Given the description of an element on the screen output the (x, y) to click on. 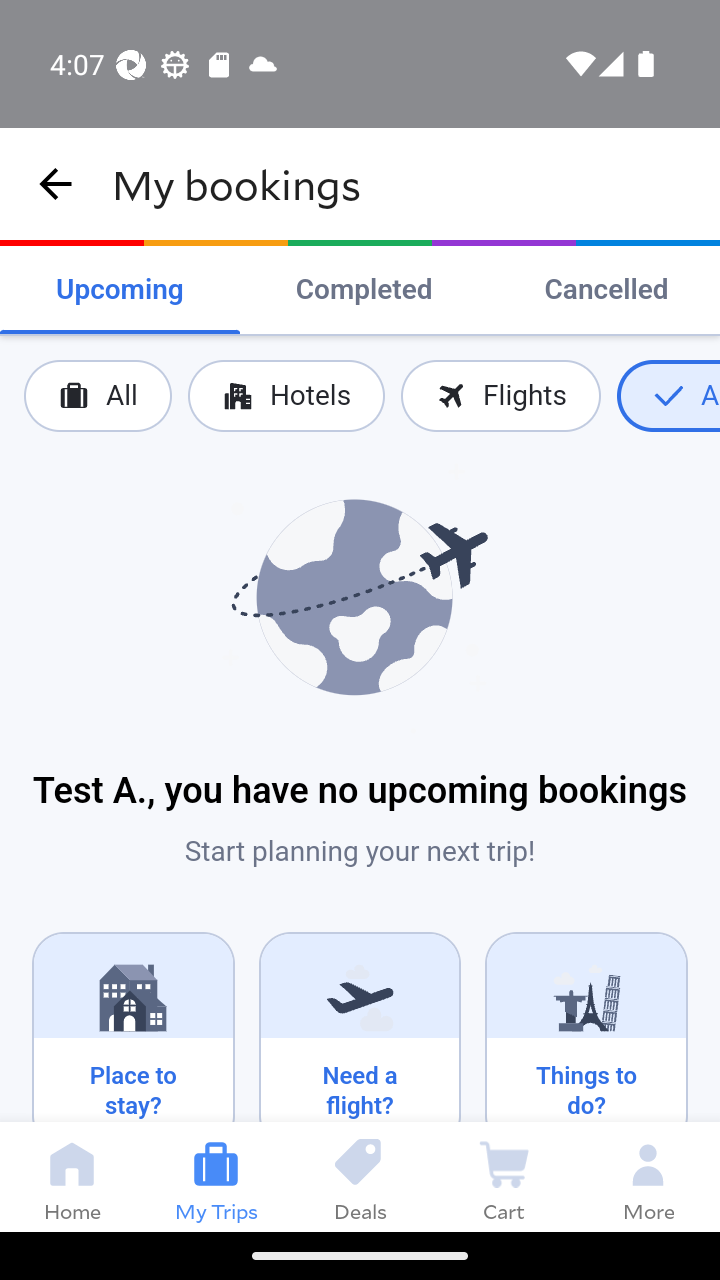
navigation_button (56, 184)
Upcoming (119, 289)
Completed (363, 289)
Cancelled (606, 289)
All (97, 395)
Hotels (285, 395)
Flights (500, 395)
Activities (668, 395)
Home (72, 1176)
My Trips (216, 1176)
Deals (360, 1176)
Cart (504, 1176)
More (648, 1176)
